Given the description of an element on the screen output the (x, y) to click on. 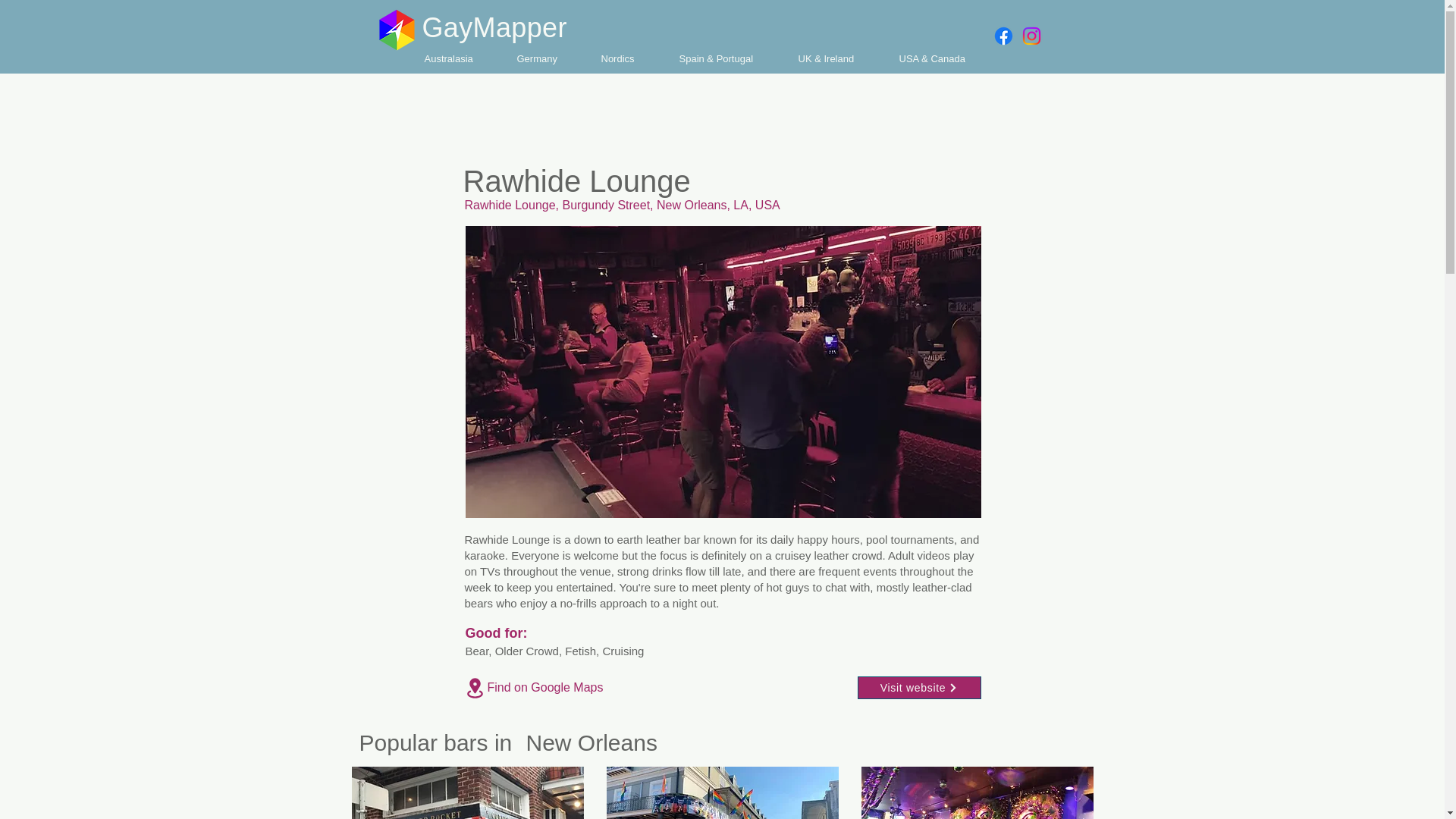
the-corner-pocket-gay-bar-new-orleans-gaymapper.jpg (467, 792)
the.page-bar-gay-bar-new-orleans-gaymapper.jpg (977, 792)
napoleons-itch-gay-bar-new-orleans-gaymapper.jpg (722, 792)
